Given the description of an element on the screen output the (x, y) to click on. 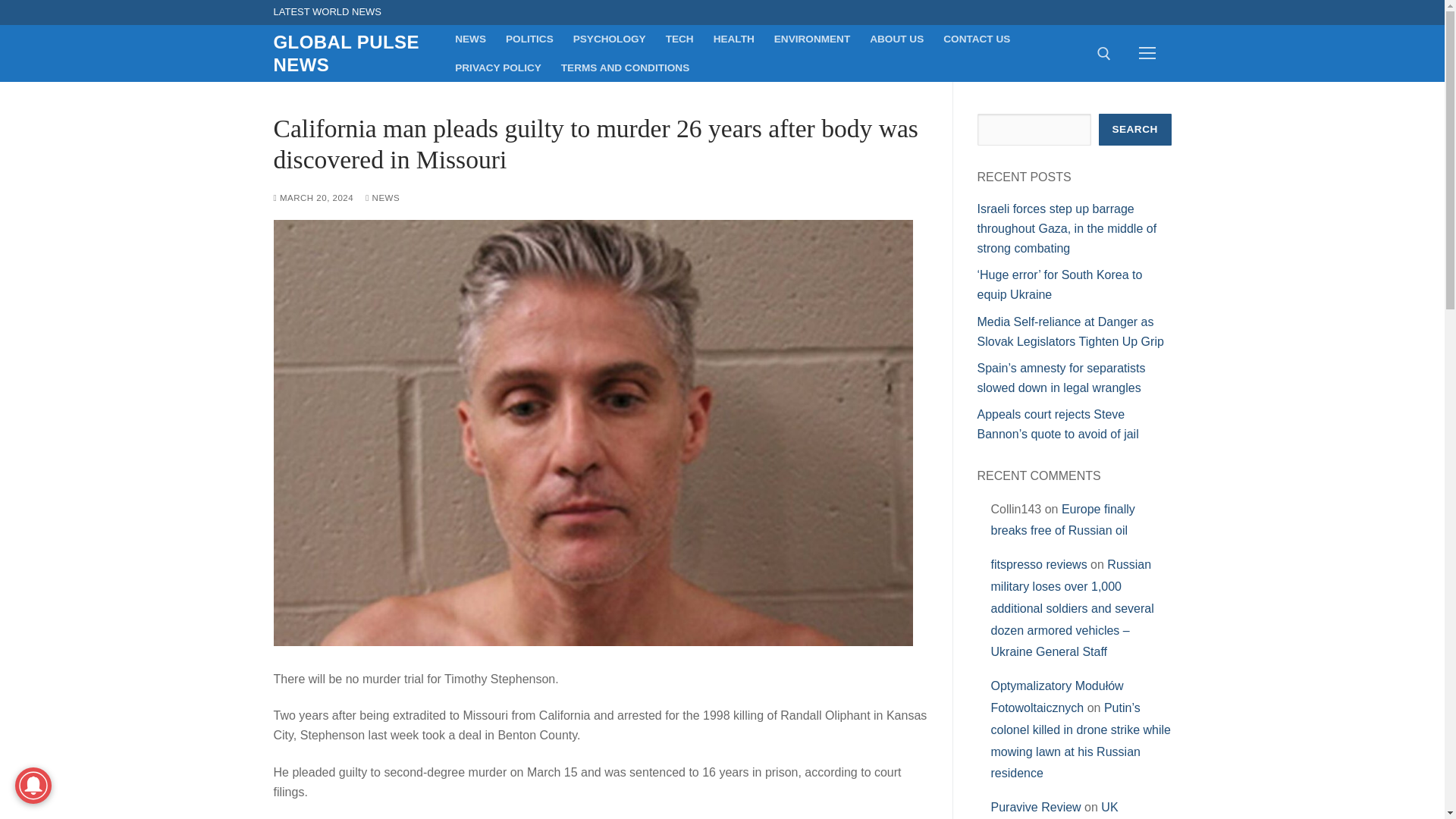
MARCH 20, 2024 (313, 197)
POLITICS (529, 39)
ABOUT US (896, 39)
GLOBAL PULSE NEWS (352, 53)
TECH (679, 39)
NEWS (381, 197)
HEALTH (733, 39)
NEWS (470, 39)
CONTACT US (976, 39)
PSYCHOLOGY (609, 39)
